Given the description of an element on the screen output the (x, y) to click on. 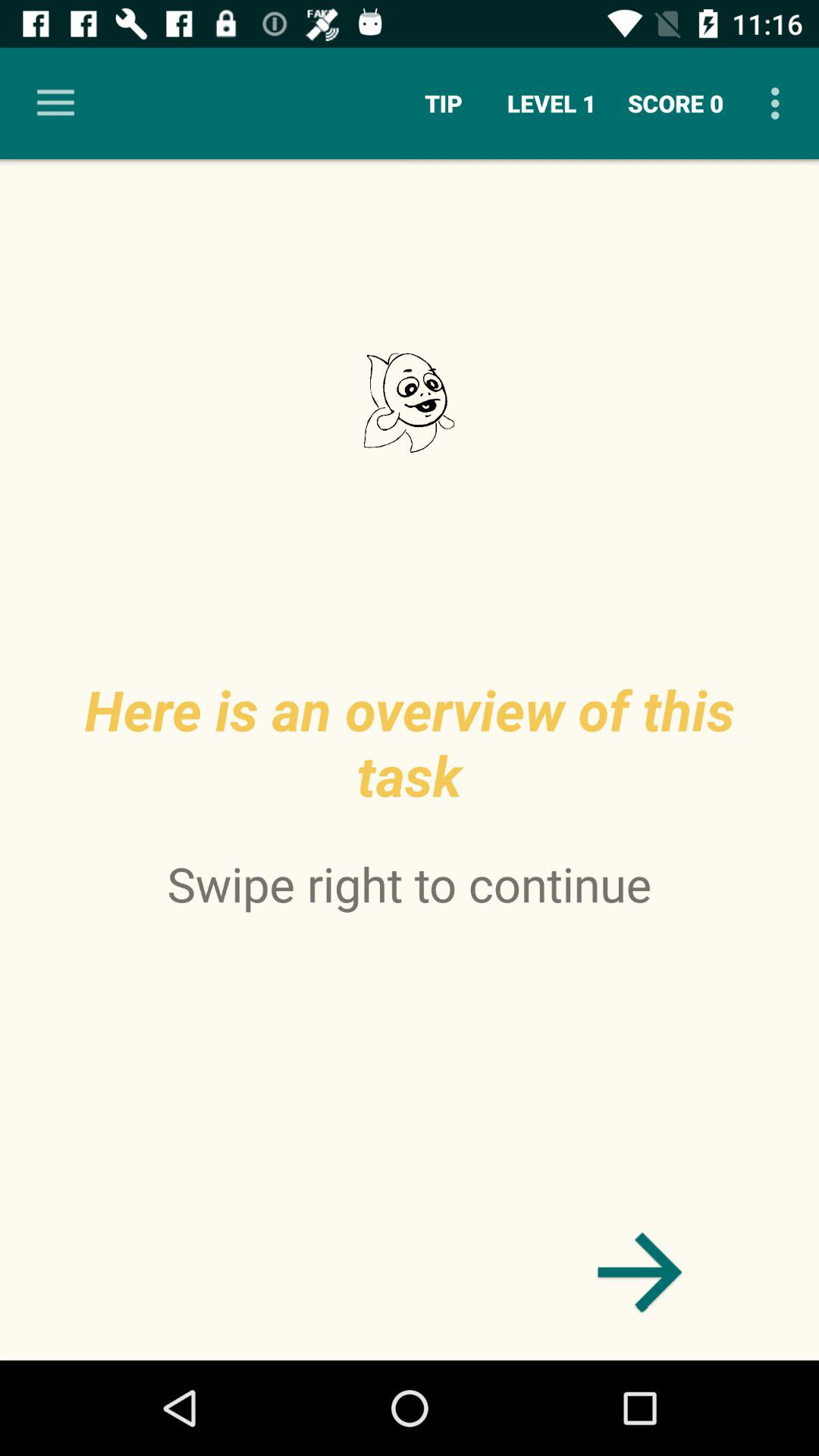
click the icon at the top left corner (55, 103)
